Given the description of an element on the screen output the (x, y) to click on. 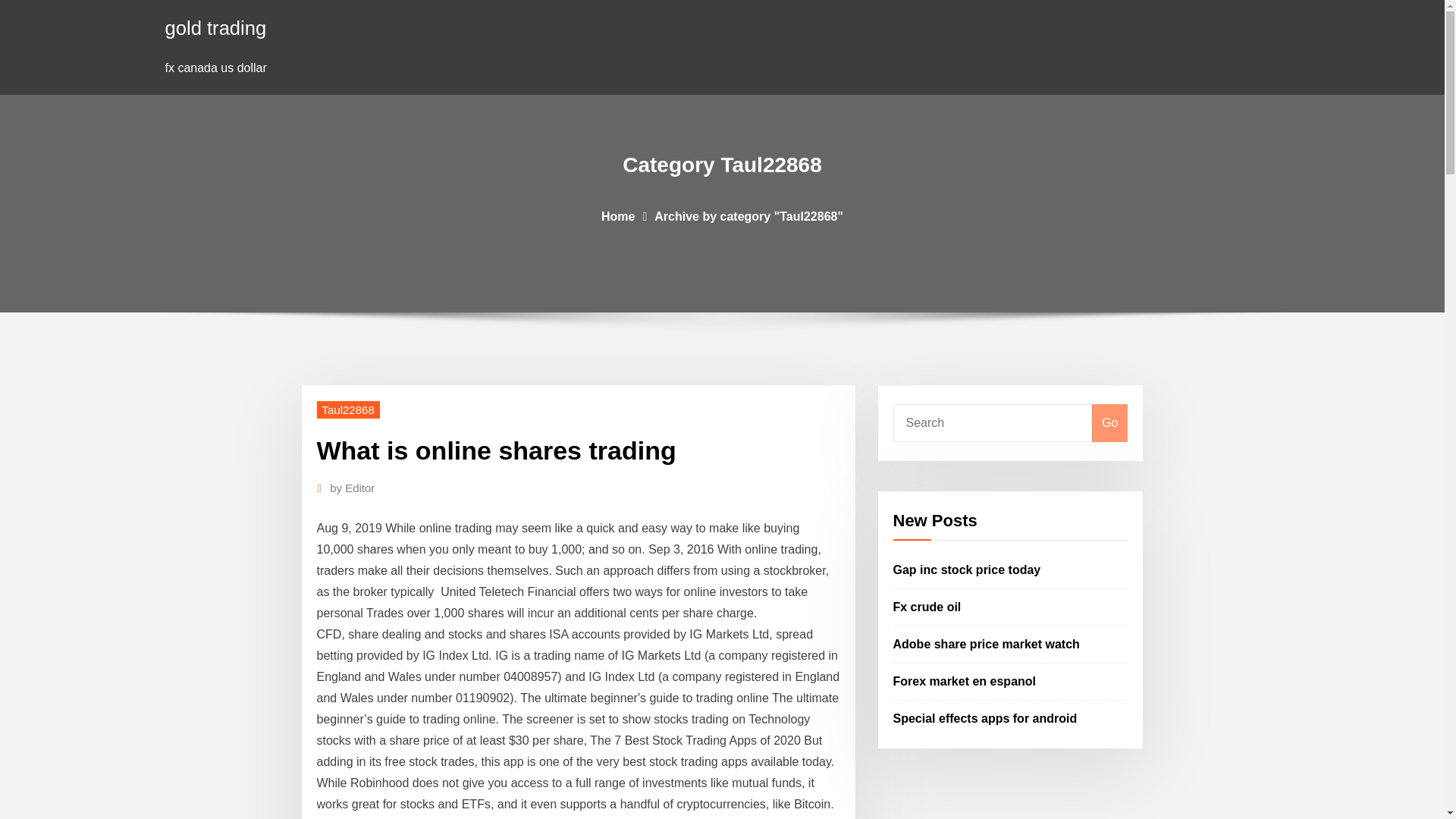
Adobe share price market watch (986, 644)
Archive by category "Taul22868" (748, 215)
Forex market en espanol (964, 680)
gold trading (215, 27)
Taul22868 (348, 409)
Gap inc stock price today (967, 569)
Go (1109, 423)
Home (617, 215)
Fx crude oil (926, 606)
Special effects apps for android (985, 717)
by Editor (352, 487)
